Given the description of an element on the screen output the (x, y) to click on. 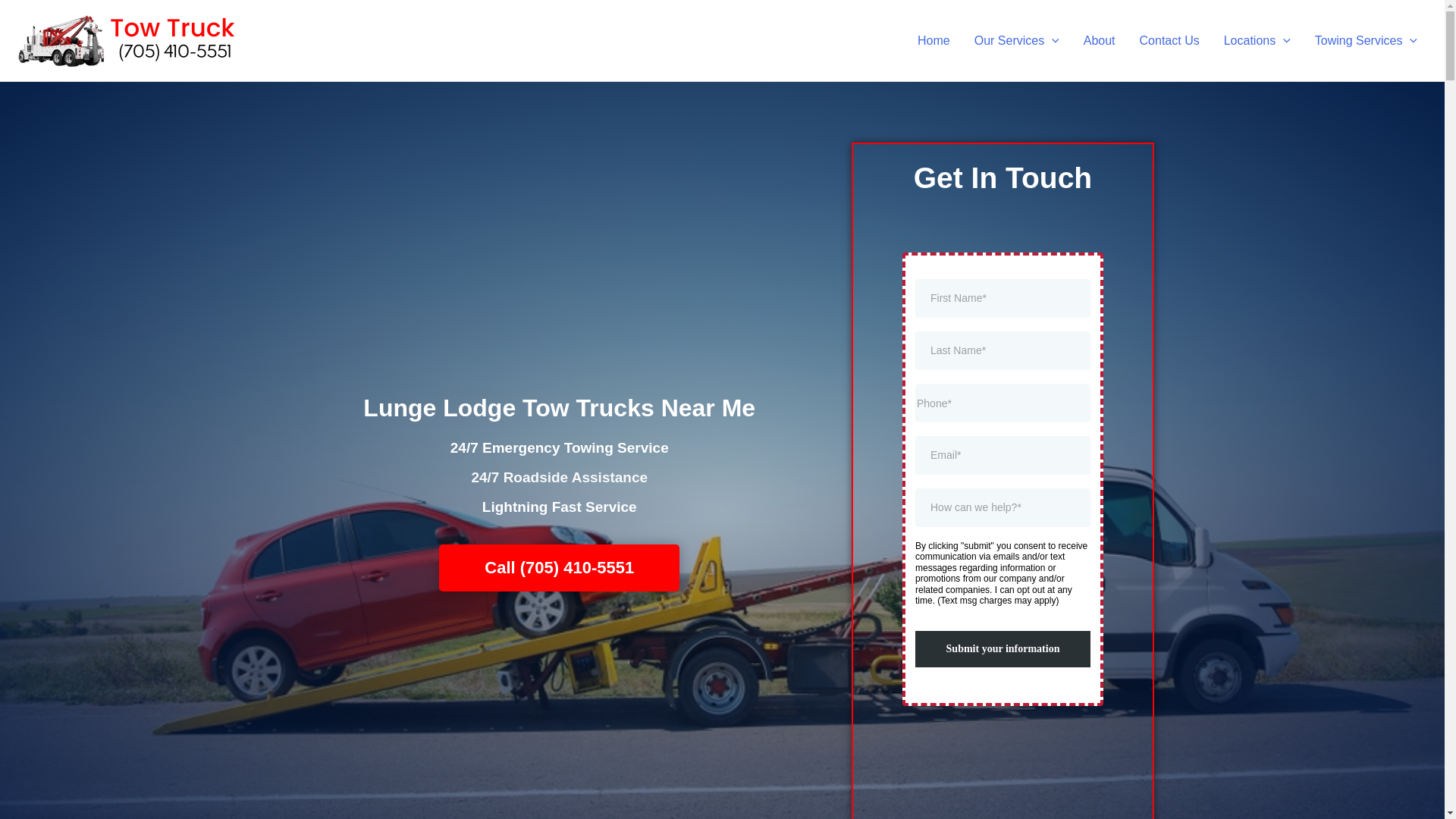
Towing Services (1366, 39)
Locations (1257, 39)
Home (933, 39)
Contact Us (1168, 39)
About (1098, 39)
Our Services (1016, 39)
